Given the description of an element on the screen output the (x, y) to click on. 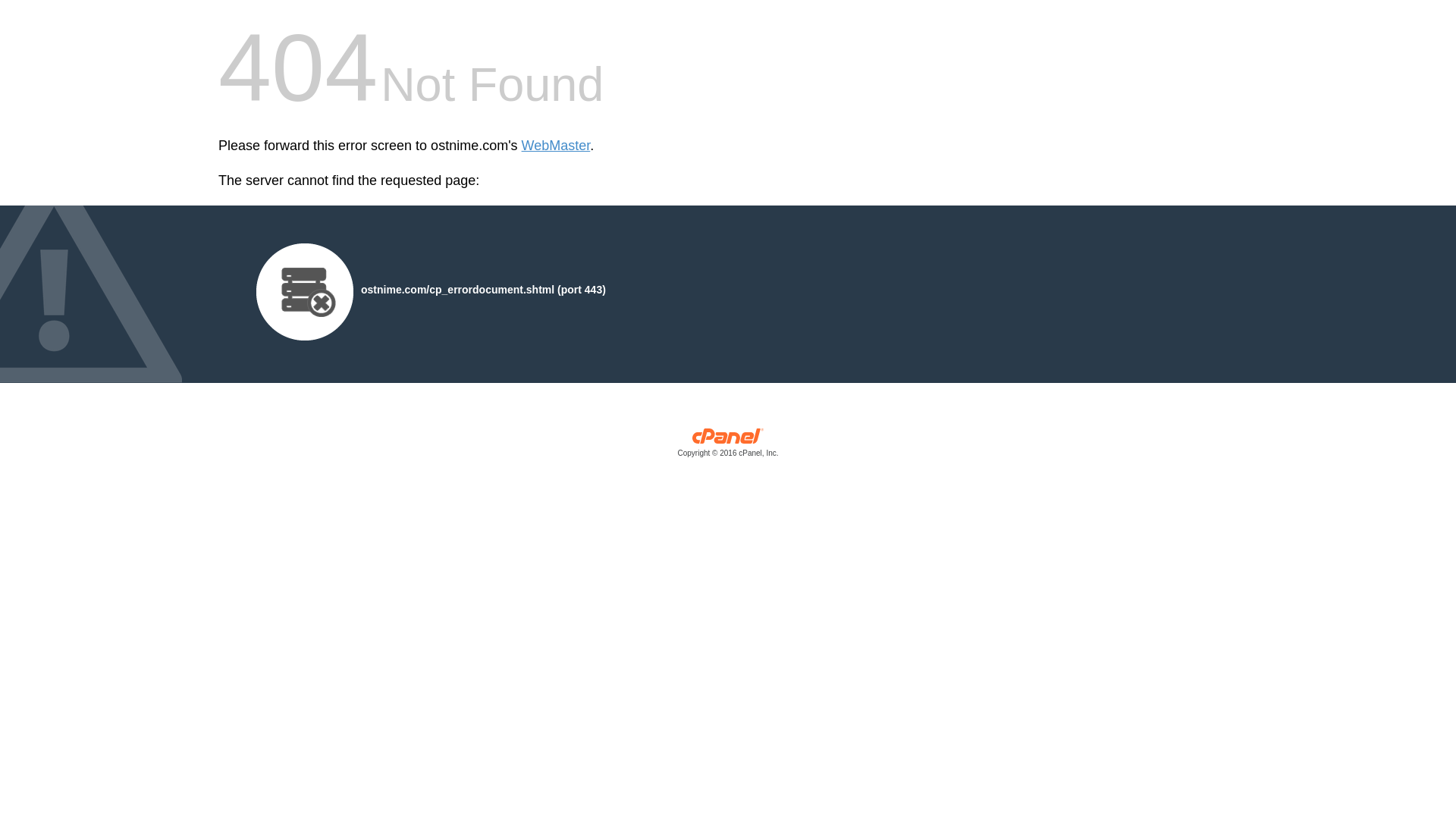
cPanel, Inc. (727, 446)
WebMaster (556, 145)
